Given the description of an element on the screen output the (x, y) to click on. 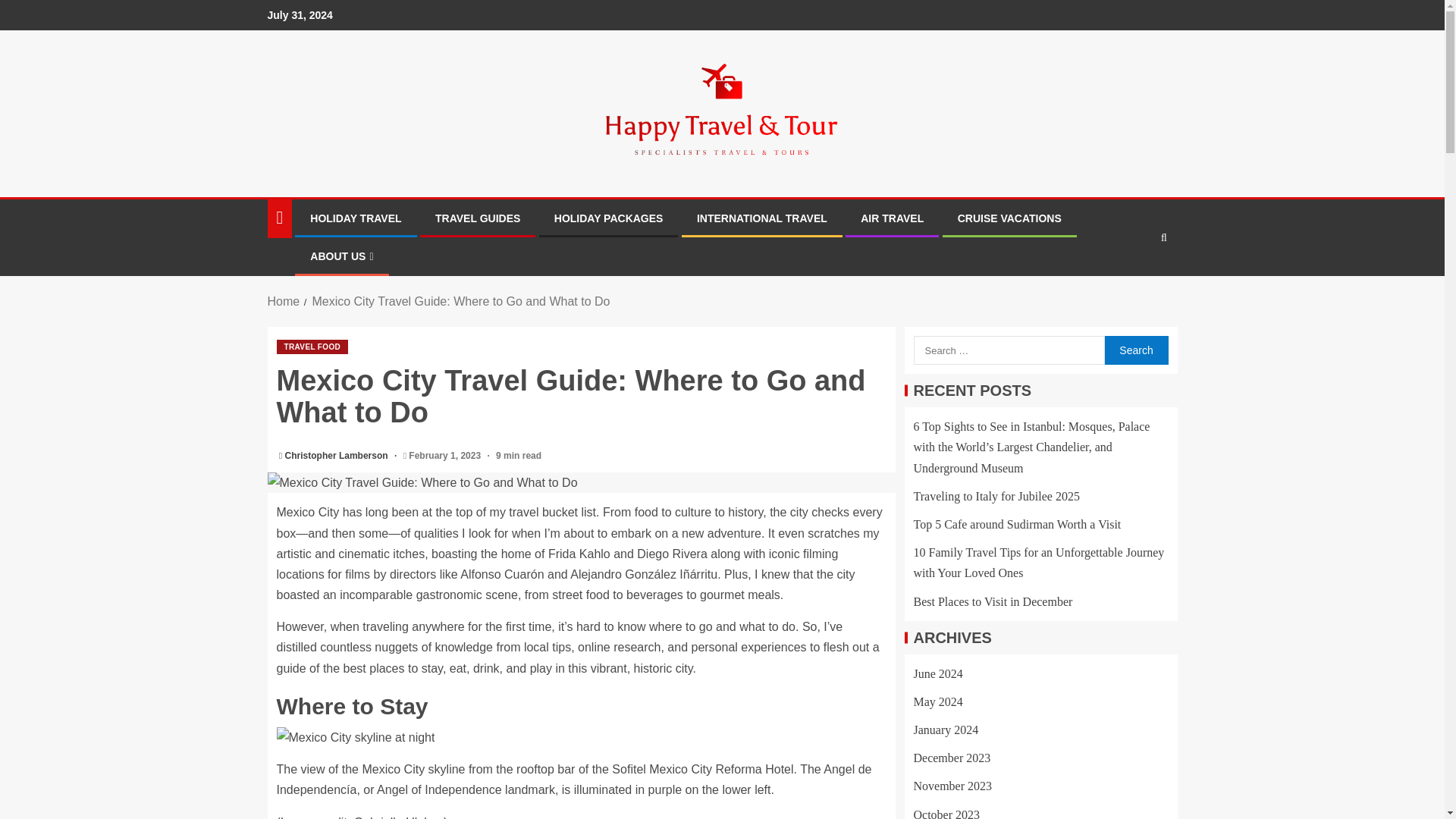
Home (282, 300)
TRAVEL GUIDES (477, 218)
HOLIDAY PACKAGES (608, 218)
ABOUT US (341, 256)
AIR TRAVEL (891, 218)
Mexico City Travel Guide: Where to Go and What to Do (580, 482)
CRUISE VACATIONS (1009, 218)
Search (1133, 284)
Mexico City Travel Guide: Where to Go and What to Do (460, 300)
Search (1135, 349)
INTERNATIONAL TRAVEL (762, 218)
Christopher Lamberson (337, 455)
Search (1135, 349)
HOLIDAY TRAVEL (355, 218)
TRAVEL FOOD (311, 346)
